Given the description of an element on the screen output the (x, y) to click on. 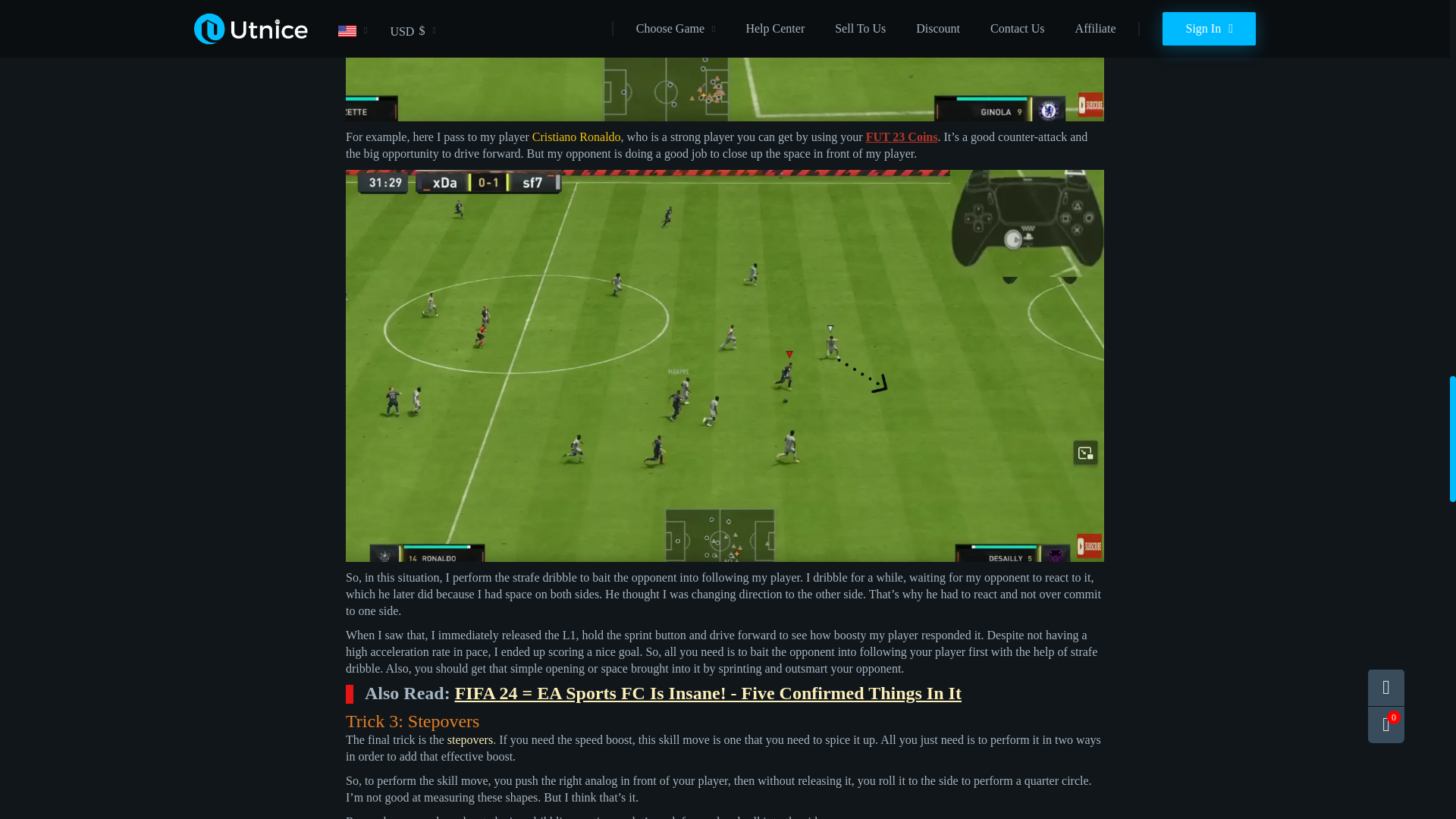
FIFA 23 L1 Speed Boost Example 2 (724, 60)
FUT 23 Coins (901, 136)
